Given the description of an element on the screen output the (x, y) to click on. 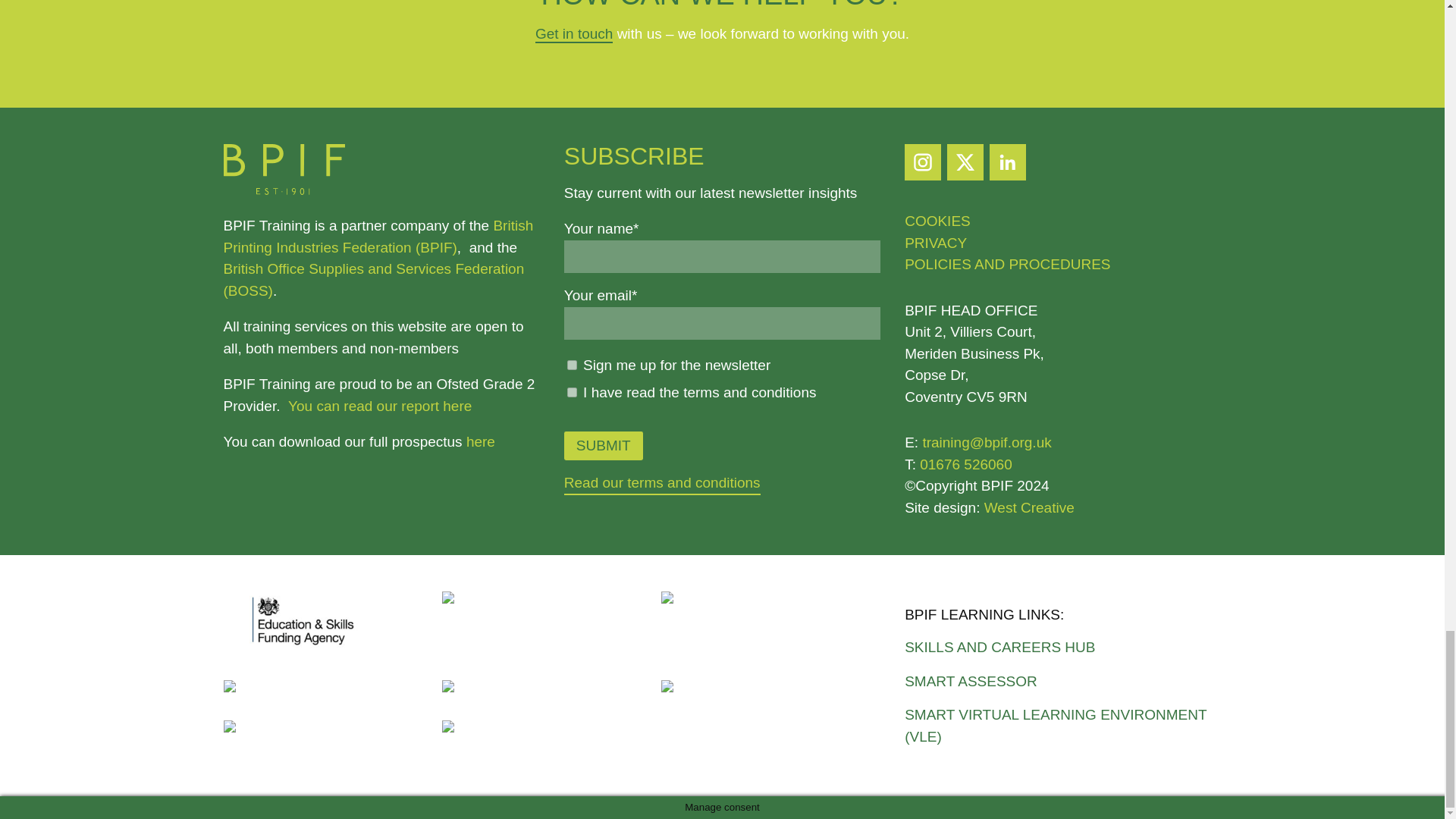
Get in touch (573, 34)
Submit (603, 445)
1 (571, 392)
COOKIES (937, 220)
You can read our report here (379, 406)
West Creative (1029, 507)
POLICIES AND PROCEDURES (1006, 263)
Submit (603, 445)
SKILLS AND CAREERS HUB (1062, 648)
here (480, 441)
